Given the description of an element on the screen output the (x, y) to click on. 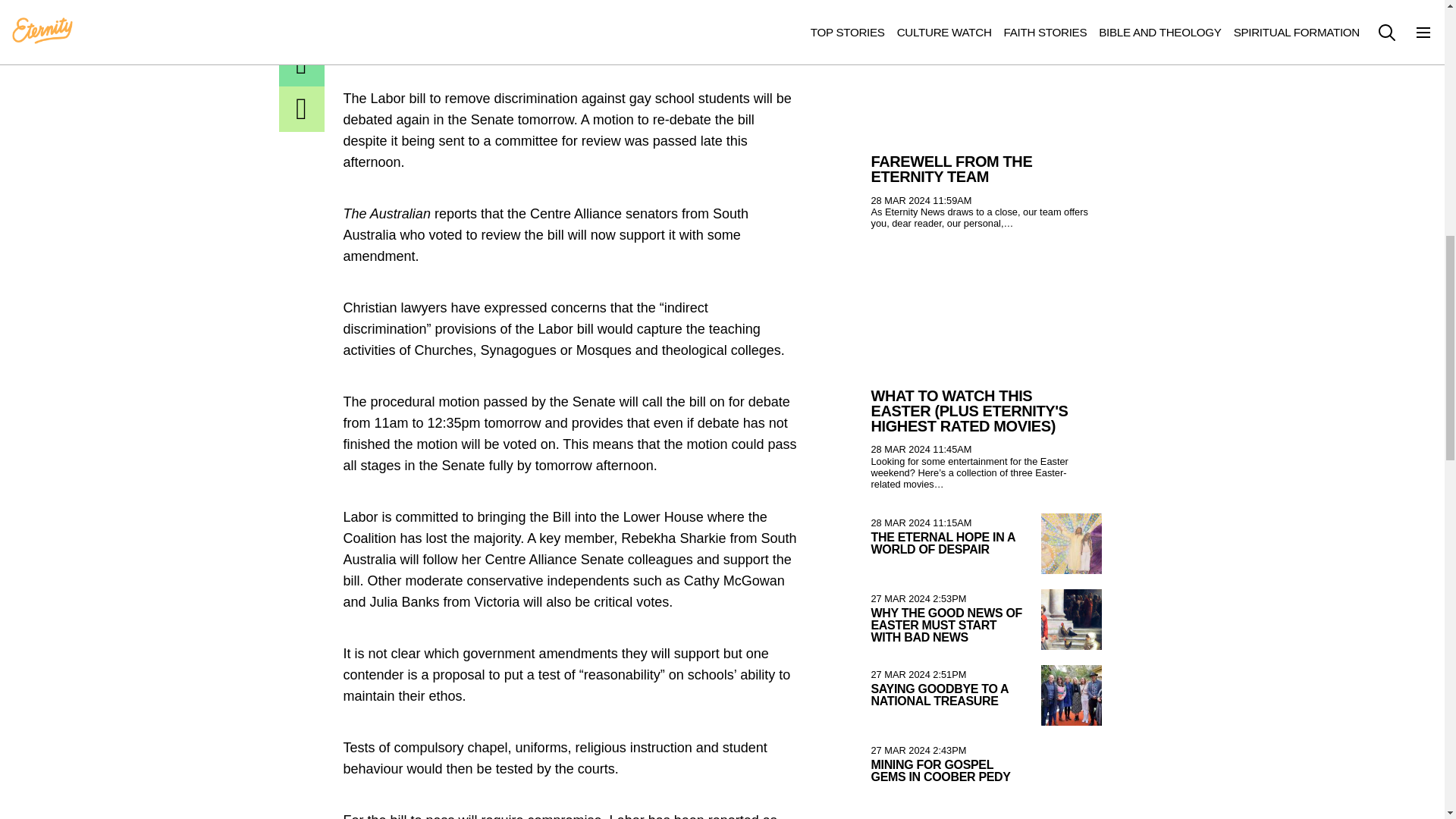
Share via WhatsApp (301, 20)
Share via Email (301, 63)
Copy link (301, 108)
